Given the description of an element on the screen output the (x, y) to click on. 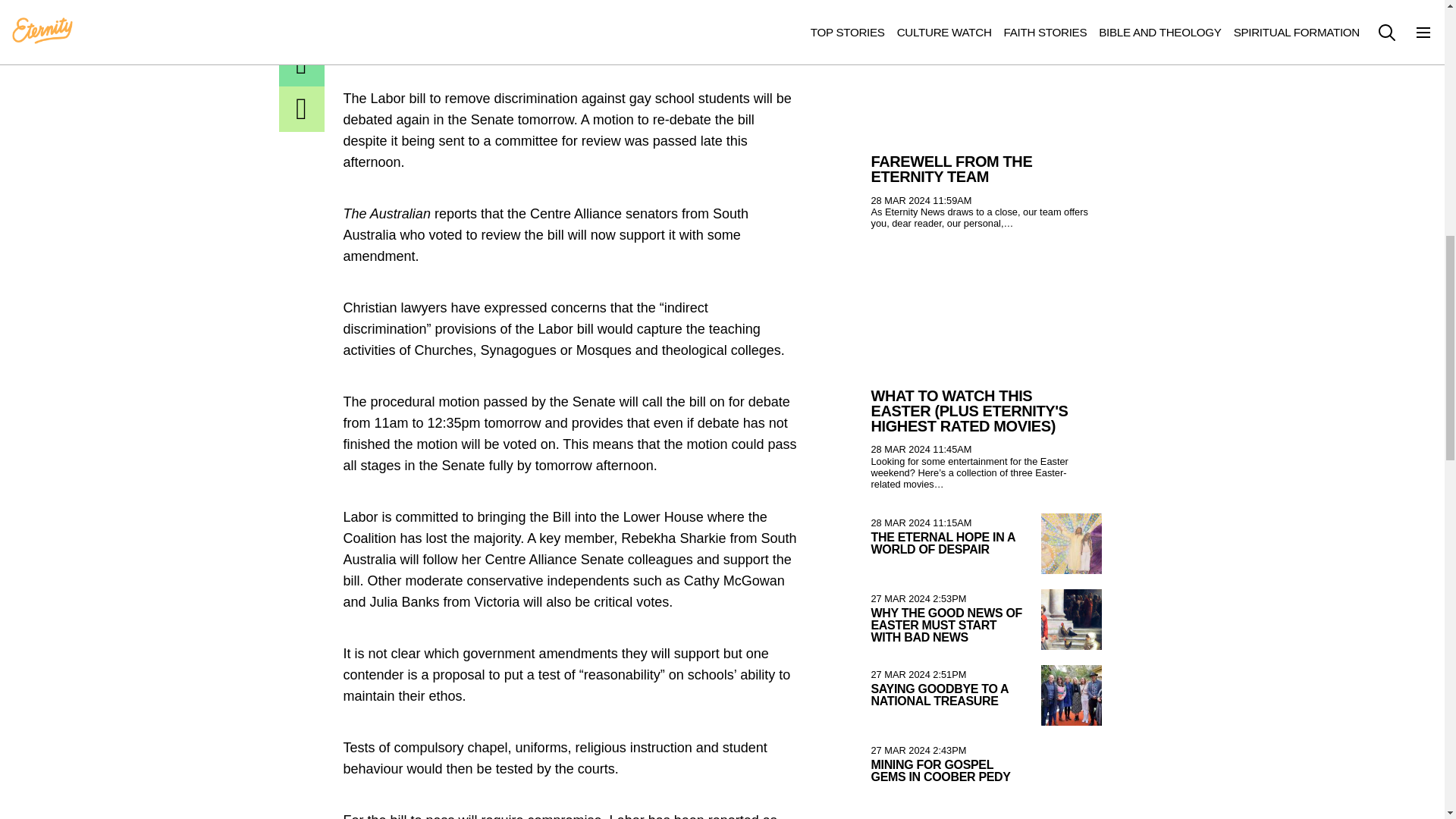
Share via WhatsApp (301, 20)
Share via Email (301, 63)
Copy link (301, 108)
